Given the description of an element on the screen output the (x, y) to click on. 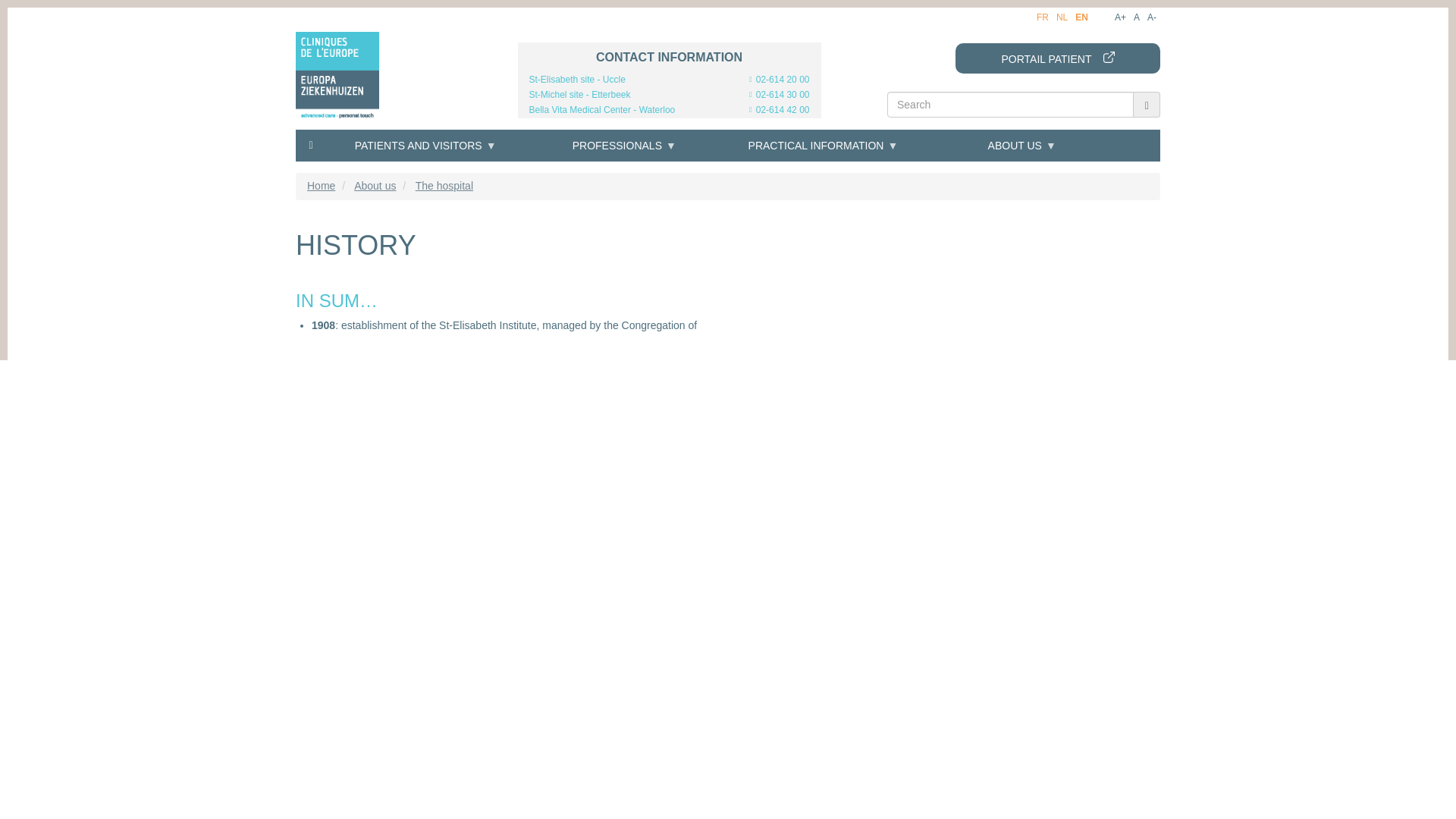
FR (1042, 17)
OUR OFFER (392, 202)
OUR PRACTICIANS AND HEALTHCARE PROVIDERS (391, 246)
EN (1081, 17)
HOME (310, 144)
PATIENTS AND VISITORS (425, 145)
NL (1062, 17)
OUR MEDICAL AND PARAMEDICAL DEPARTMENTS (391, 273)
PORTAIL PATIENT (1057, 58)
